Given the description of an element on the screen output the (x, y) to click on. 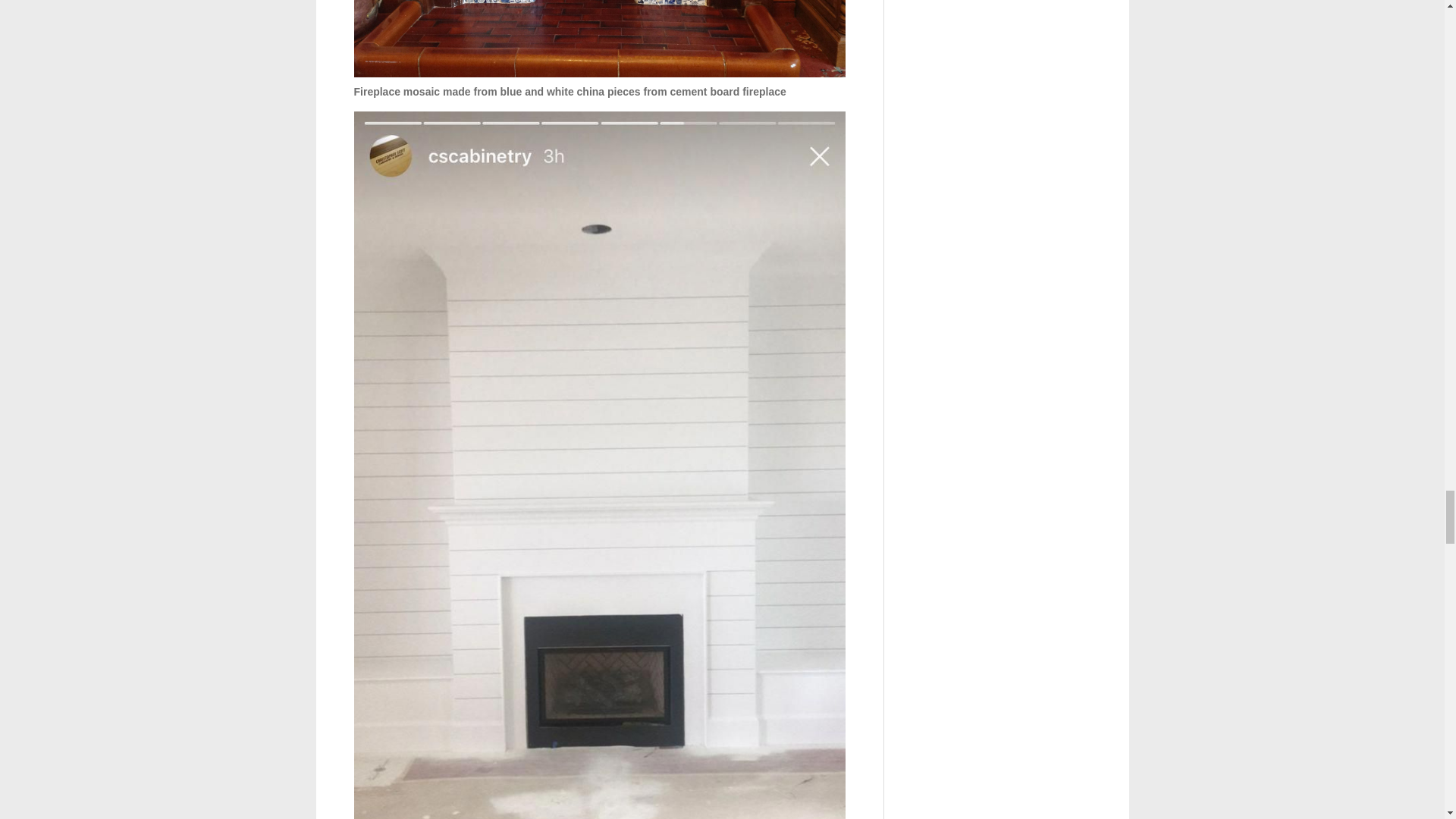
Fireplace mosaic made from blue and white china pieces (598, 38)
